Given the description of an element on the screen output the (x, y) to click on. 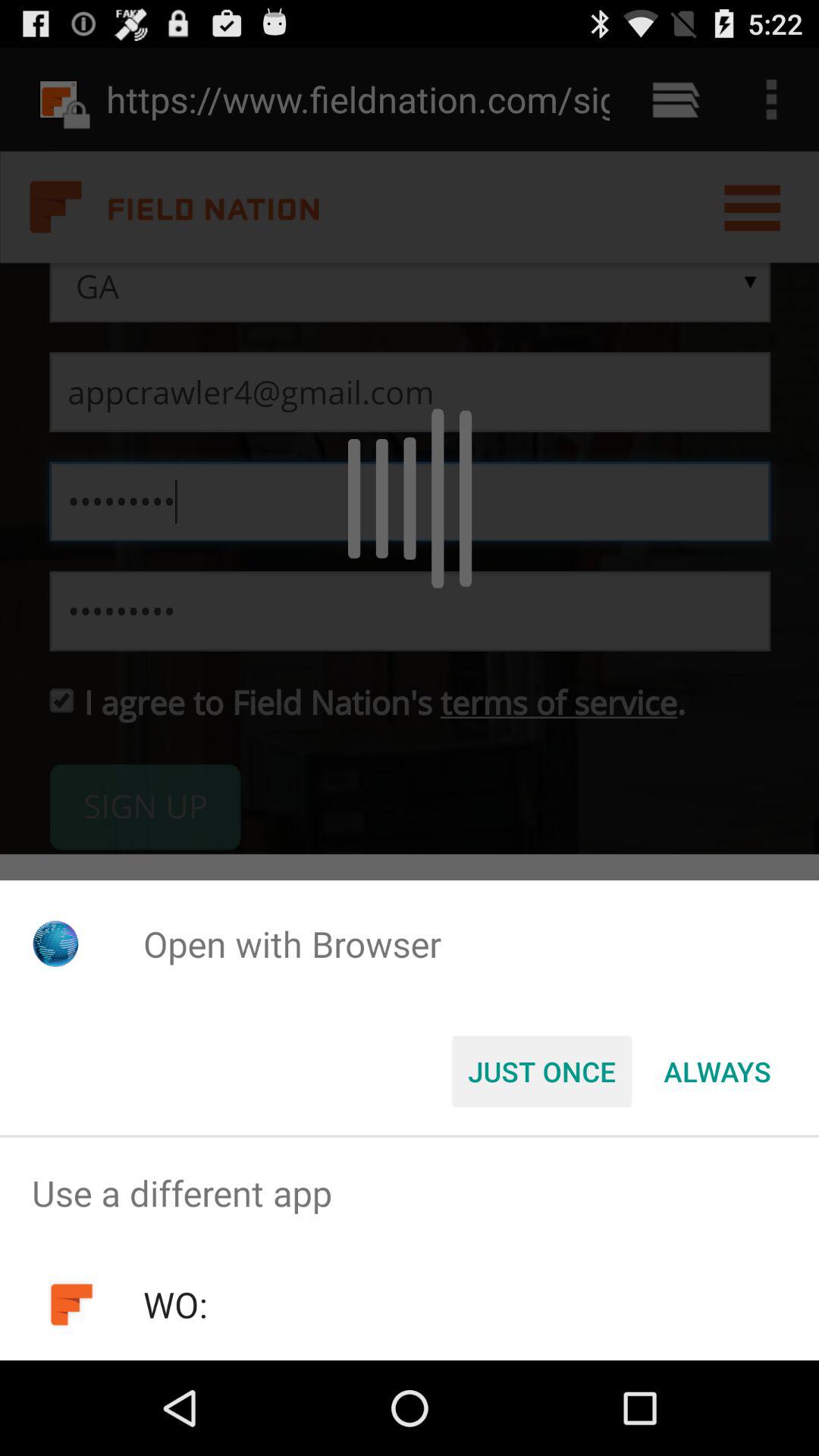
choose the just once icon (541, 1071)
